Given the description of an element on the screen output the (x, y) to click on. 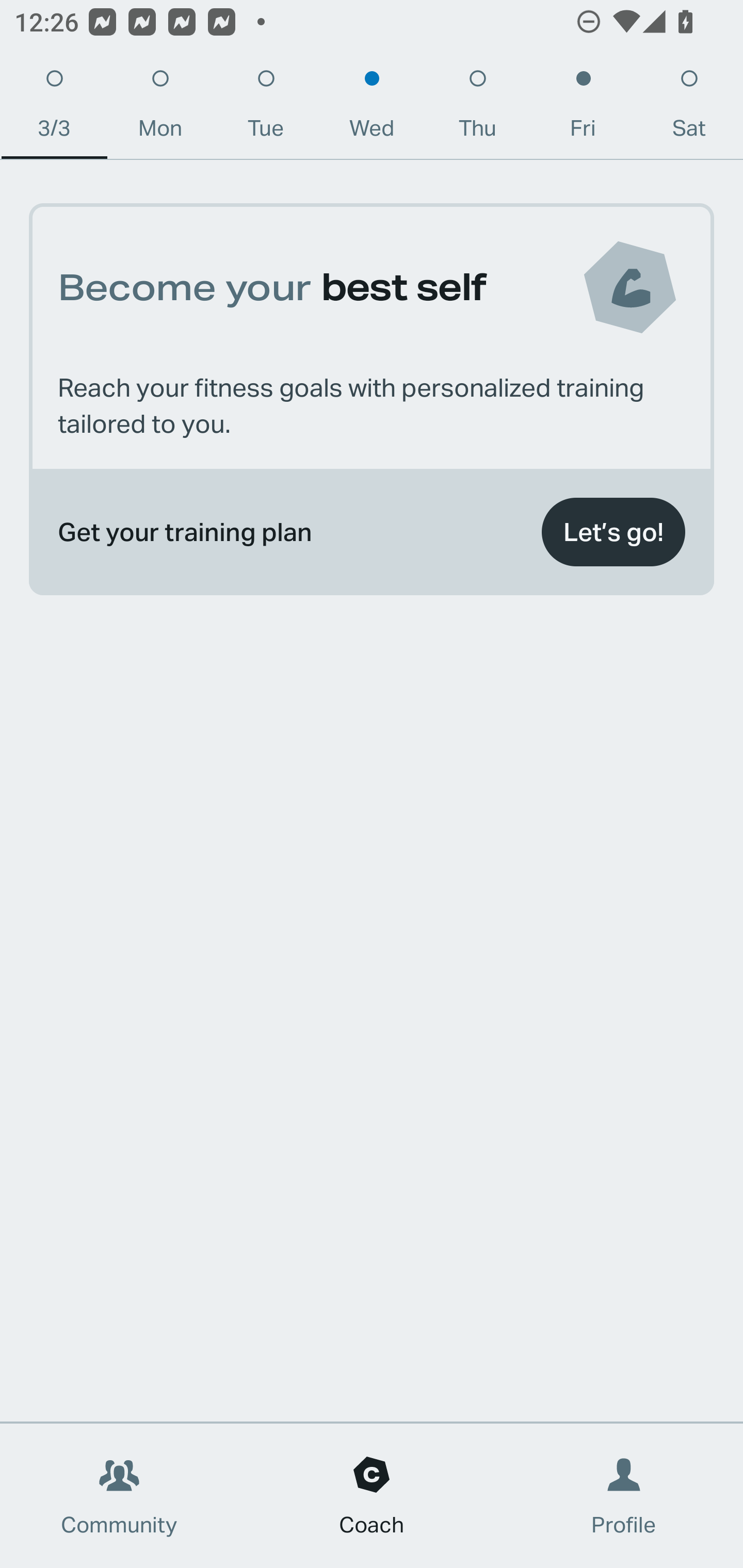
3/3 (53, 108)
Mon (159, 108)
Tue (265, 108)
Wed (371, 108)
Thu (477, 108)
Fri (583, 108)
Sat (689, 108)
Let’s go! (613, 532)
Community (119, 1495)
Profile (624, 1495)
